Given the description of an element on the screen output the (x, y) to click on. 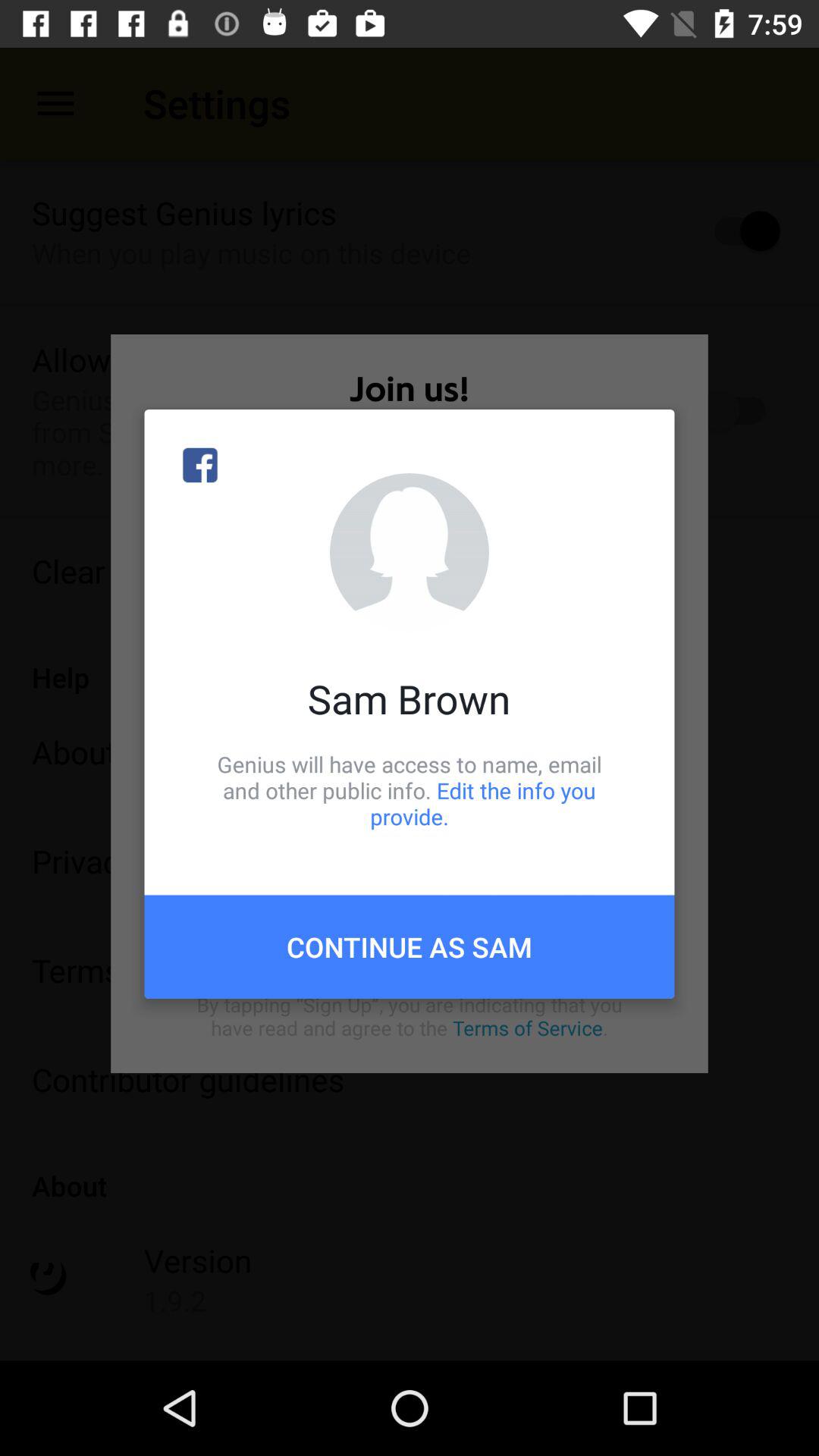
turn off icon below sam brown icon (409, 790)
